Given the description of an element on the screen output the (x, y) to click on. 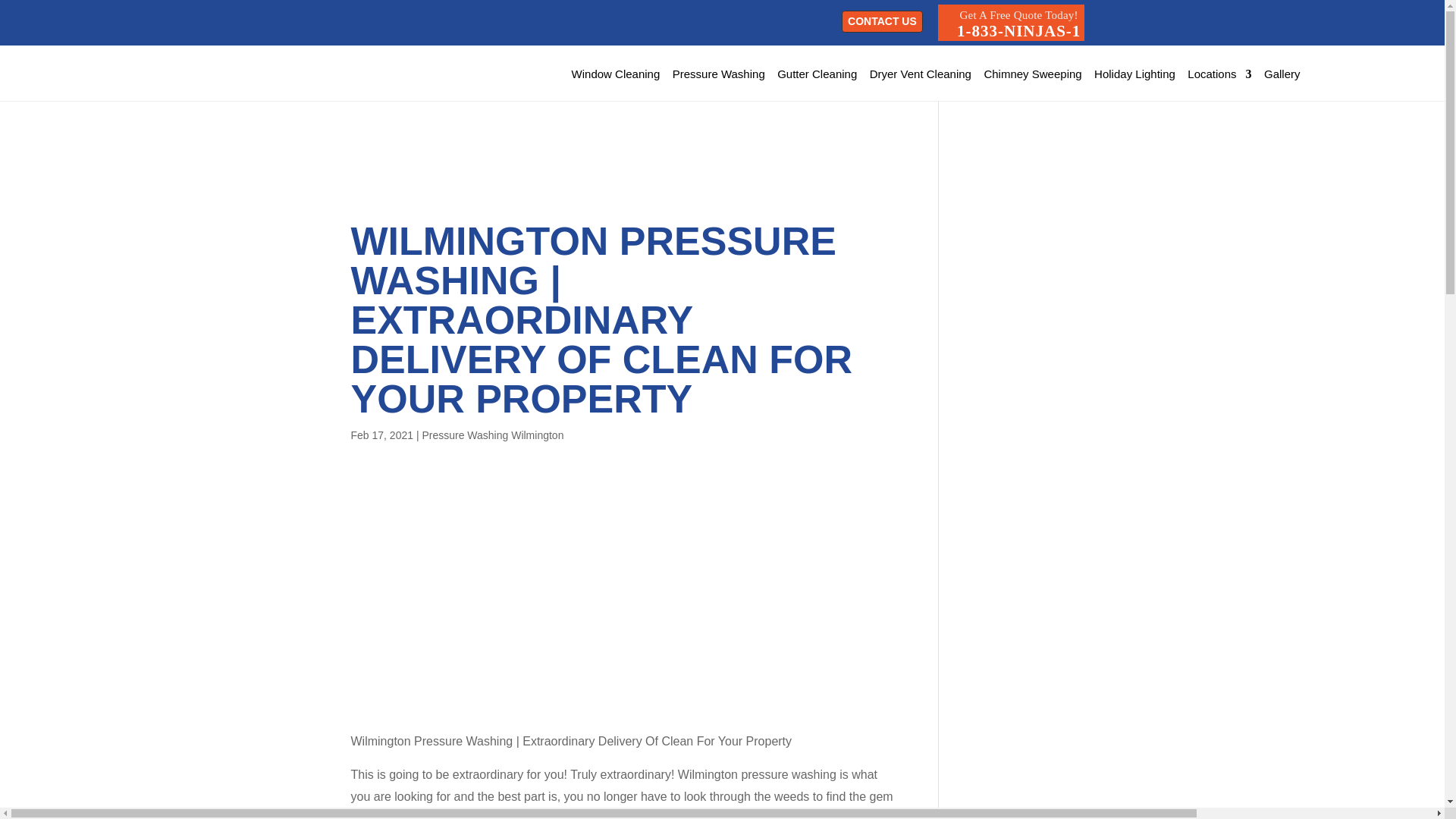
CONTACT US (882, 21)
Holiday Lighting (1010, 22)
Dryer Vent Cleaning (1134, 73)
Chimney Sweeping (920, 73)
Locations (1032, 73)
Window Cleaning (1219, 73)
Pressure Washing (616, 73)
Gutter Cleaning (718, 73)
